Given the description of an element on the screen output the (x, y) to click on. 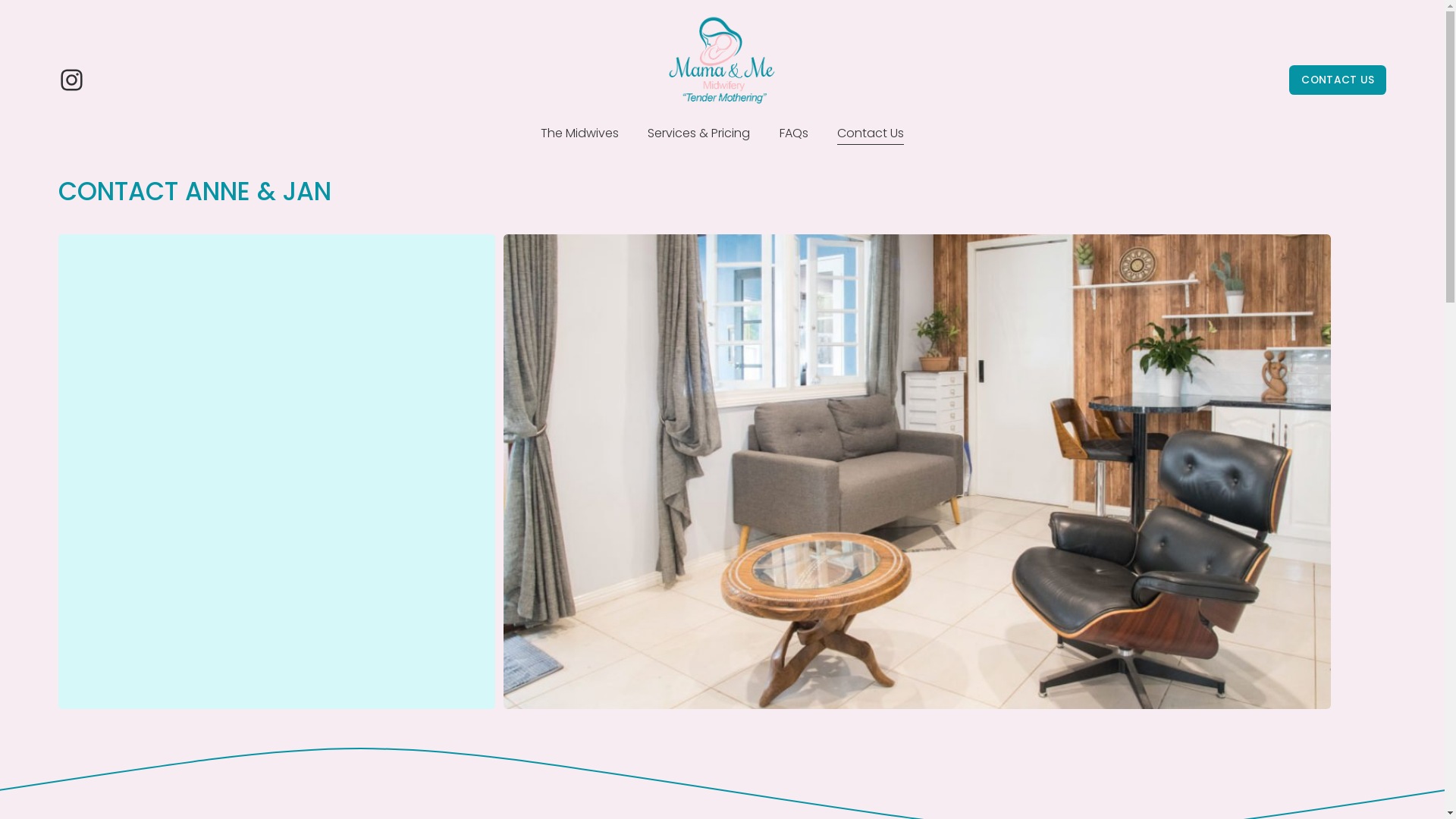
Contact Us Element type: text (870, 133)
The Midwives Element type: text (579, 133)
Services & Pricing Element type: text (698, 133)
FAQs Element type: text (793, 133)
CONTACT US Element type: text (1337, 79)
